Given the description of an element on the screen output the (x, y) to click on. 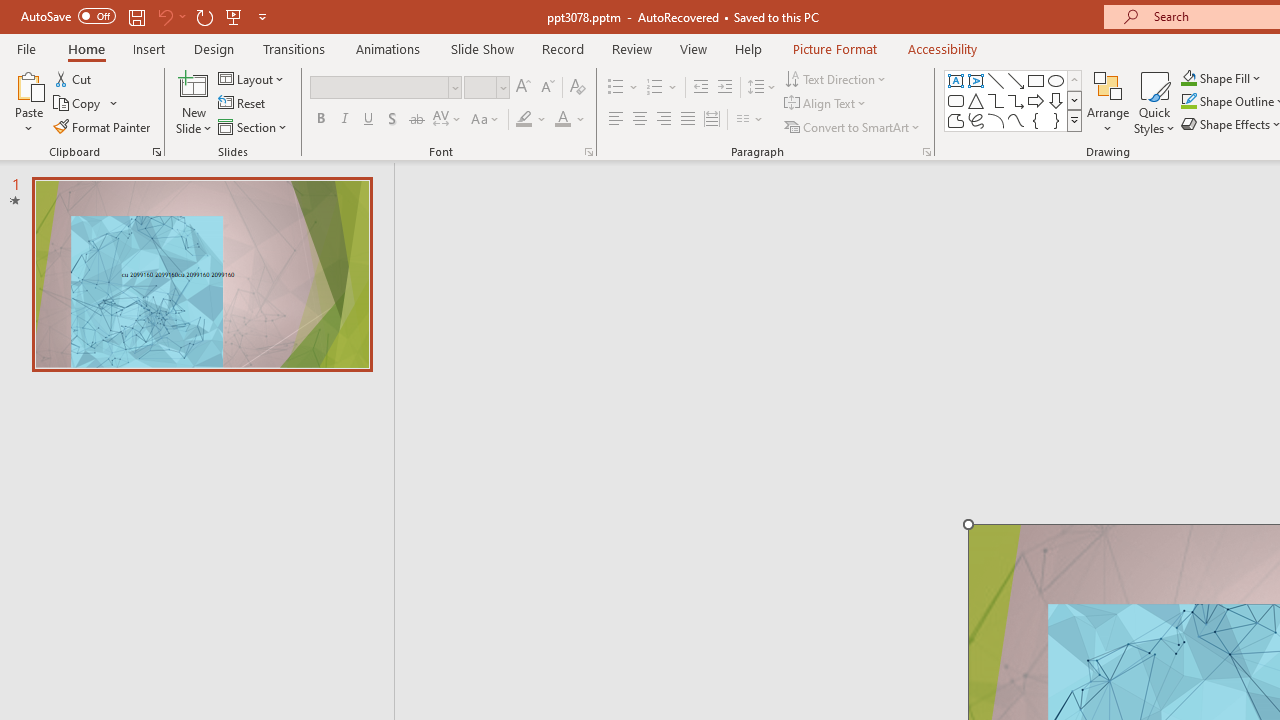
Shape Outline Green, Accent 1 (1188, 101)
Picture Format (834, 48)
